Given the description of an element on the screen output the (x, y) to click on. 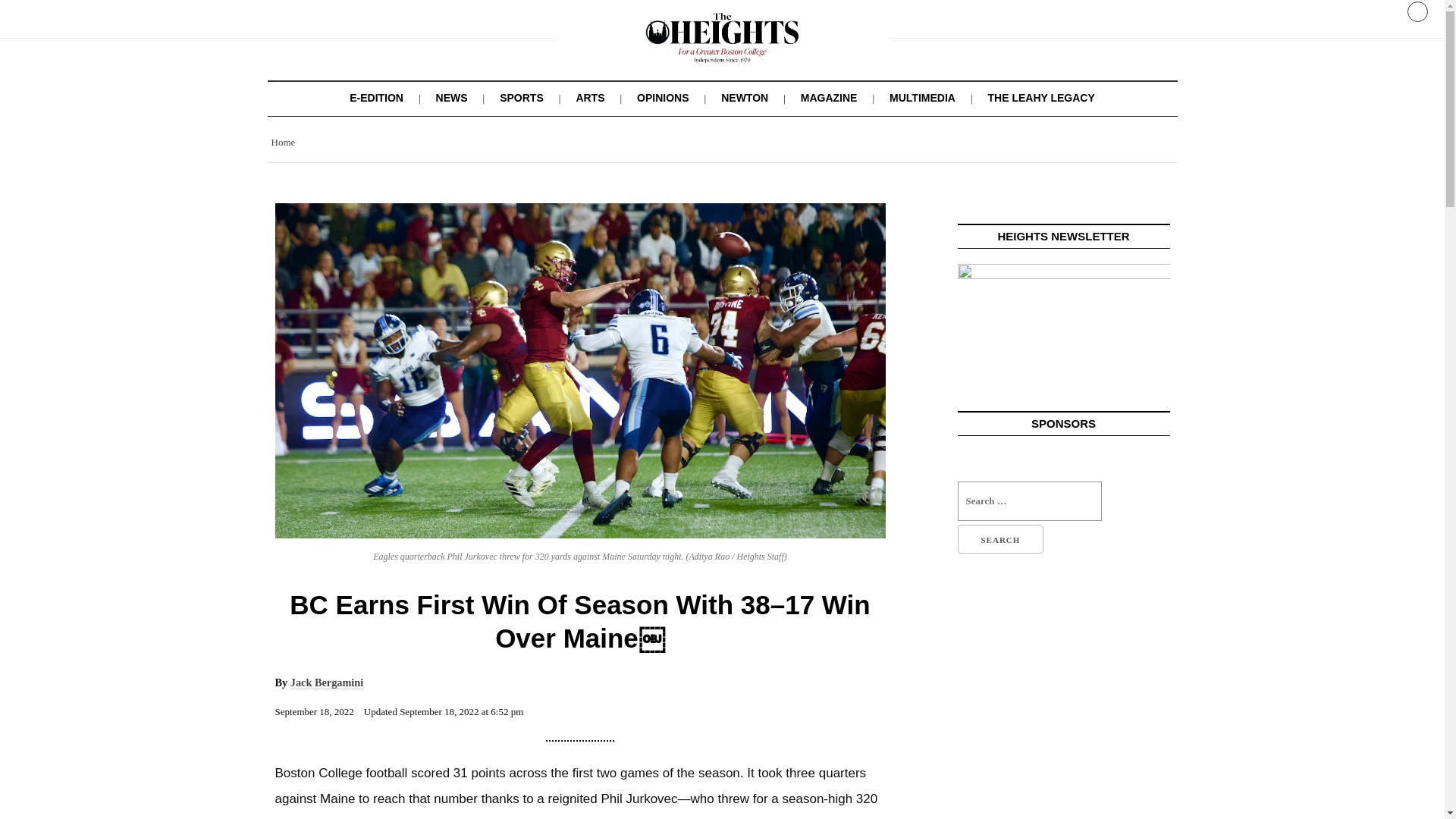
MAGAZINE (828, 97)
E-EDITION (376, 97)
NEWS (451, 97)
The Heights (721, 52)
Search (999, 538)
Jack Bergamini (326, 682)
NEWTON (744, 97)
Search (999, 538)
ARTS (589, 97)
OPINIONS (662, 97)
Home (282, 142)
MULTIMEDIA (922, 97)
THE LEAHY LEGACY (1040, 97)
SPORTS (521, 97)
